Given the description of an element on the screen output the (x, y) to click on. 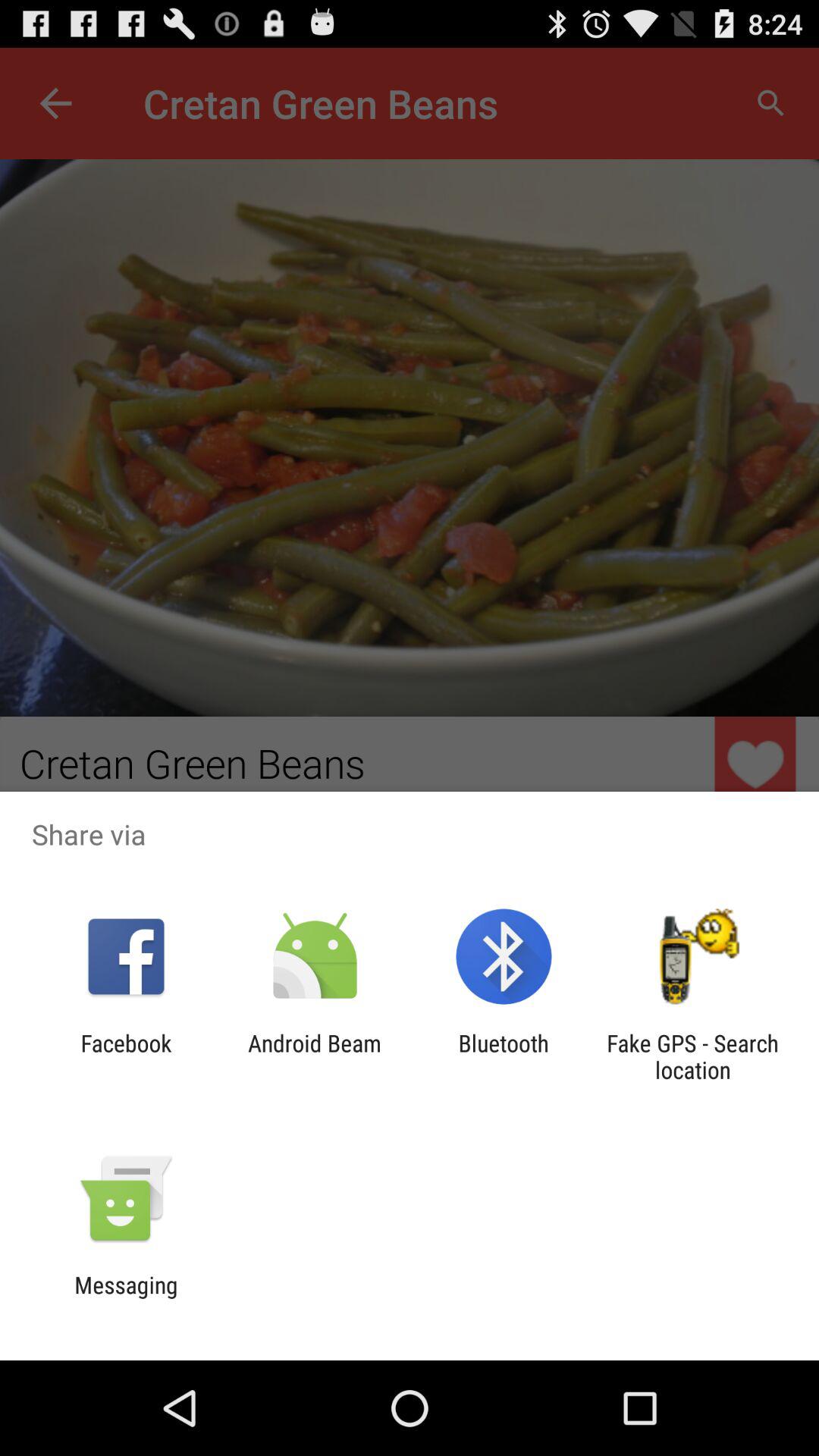
tap the app next to the facebook icon (314, 1056)
